Given the description of an element on the screen output the (x, y) to click on. 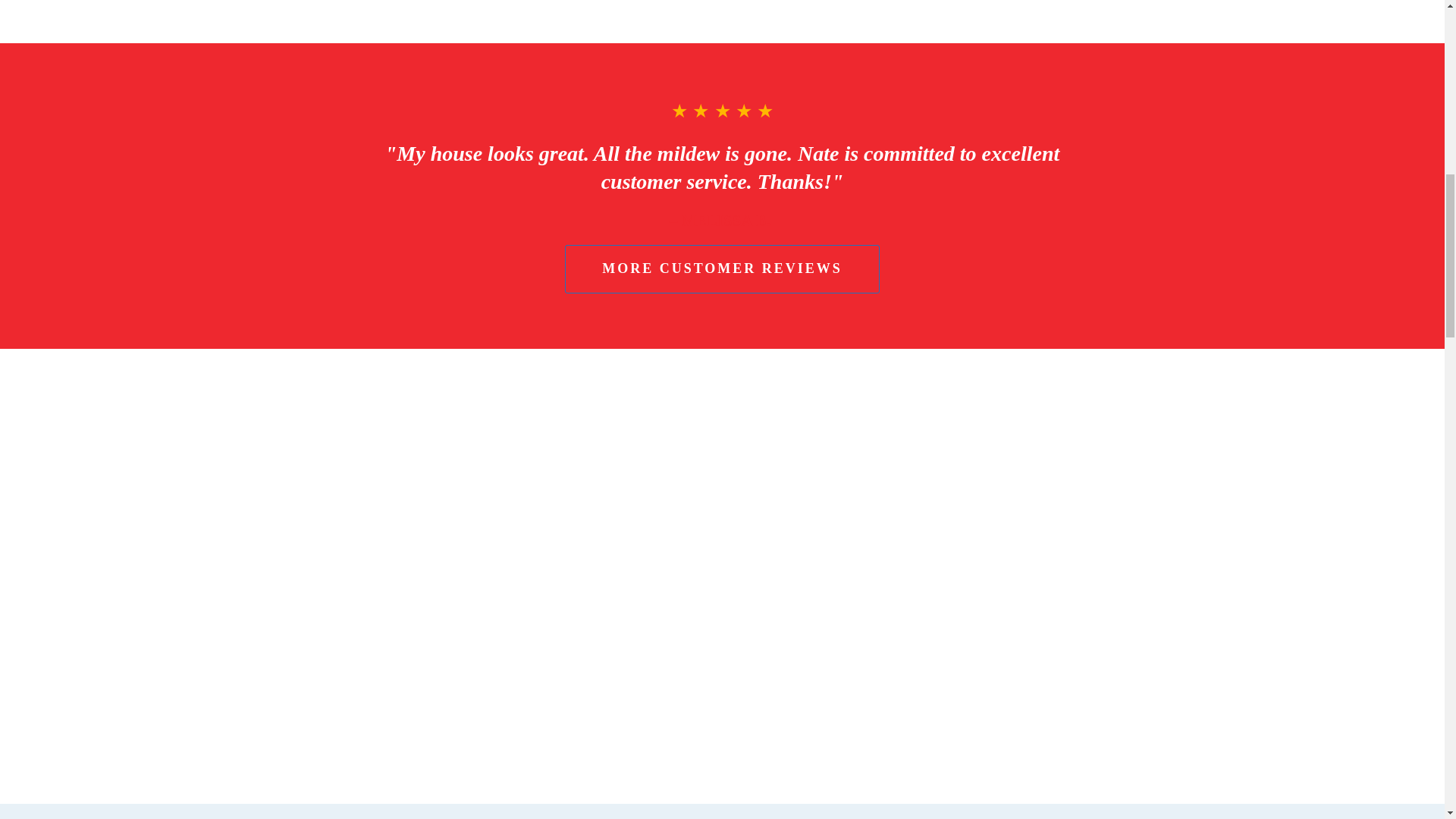
MORE CUSTOMER REVIEWS (721, 268)
